Given the description of an element on the screen output the (x, y) to click on. 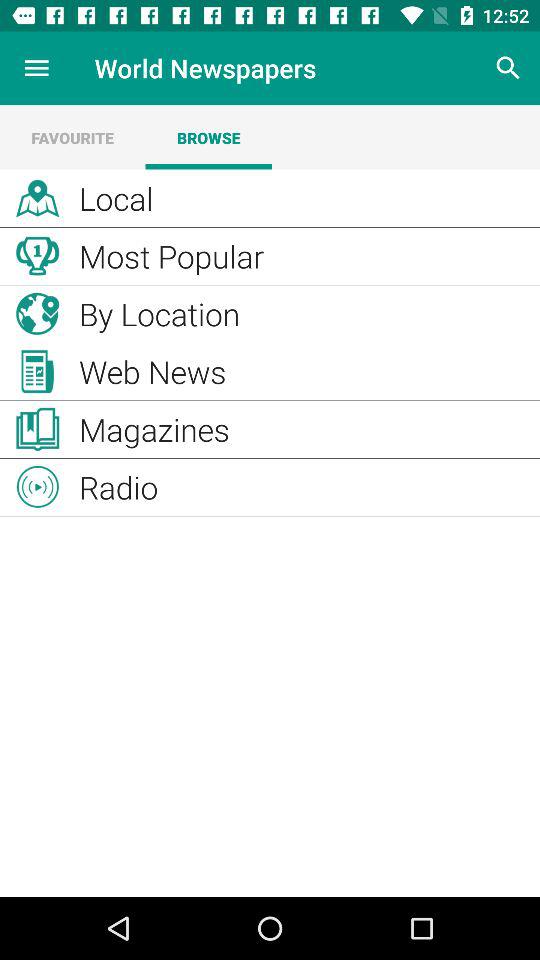
search bar (508, 67)
